Given the description of an element on the screen output the (x, y) to click on. 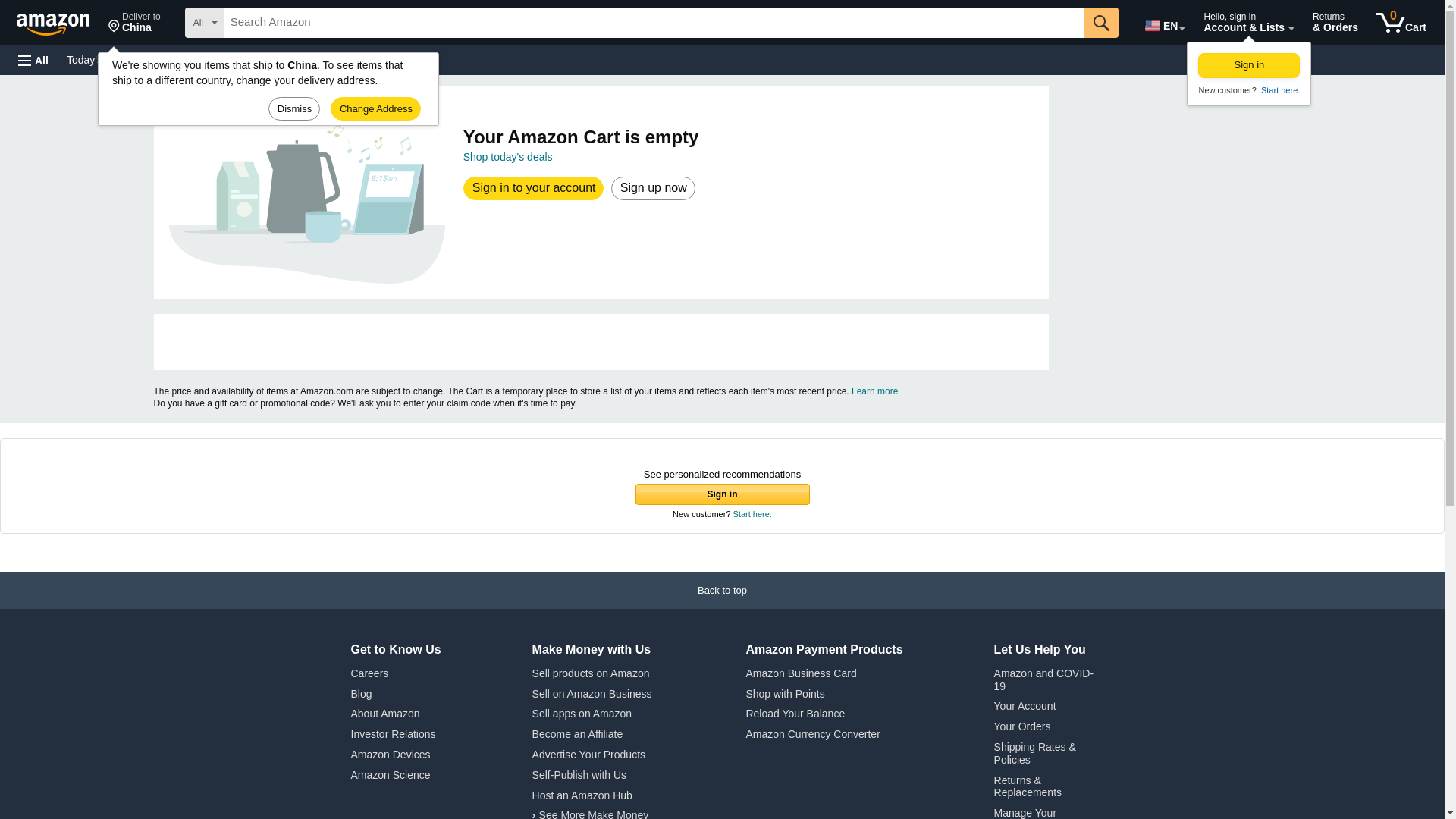
Start here. (1401, 22)
Go (1279, 90)
Sign in (1101, 22)
Today's Deals (134, 22)
Sign up now (1249, 65)
Go (99, 59)
Shop today's deals (652, 188)
